Given the description of an element on the screen output the (x, y) to click on. 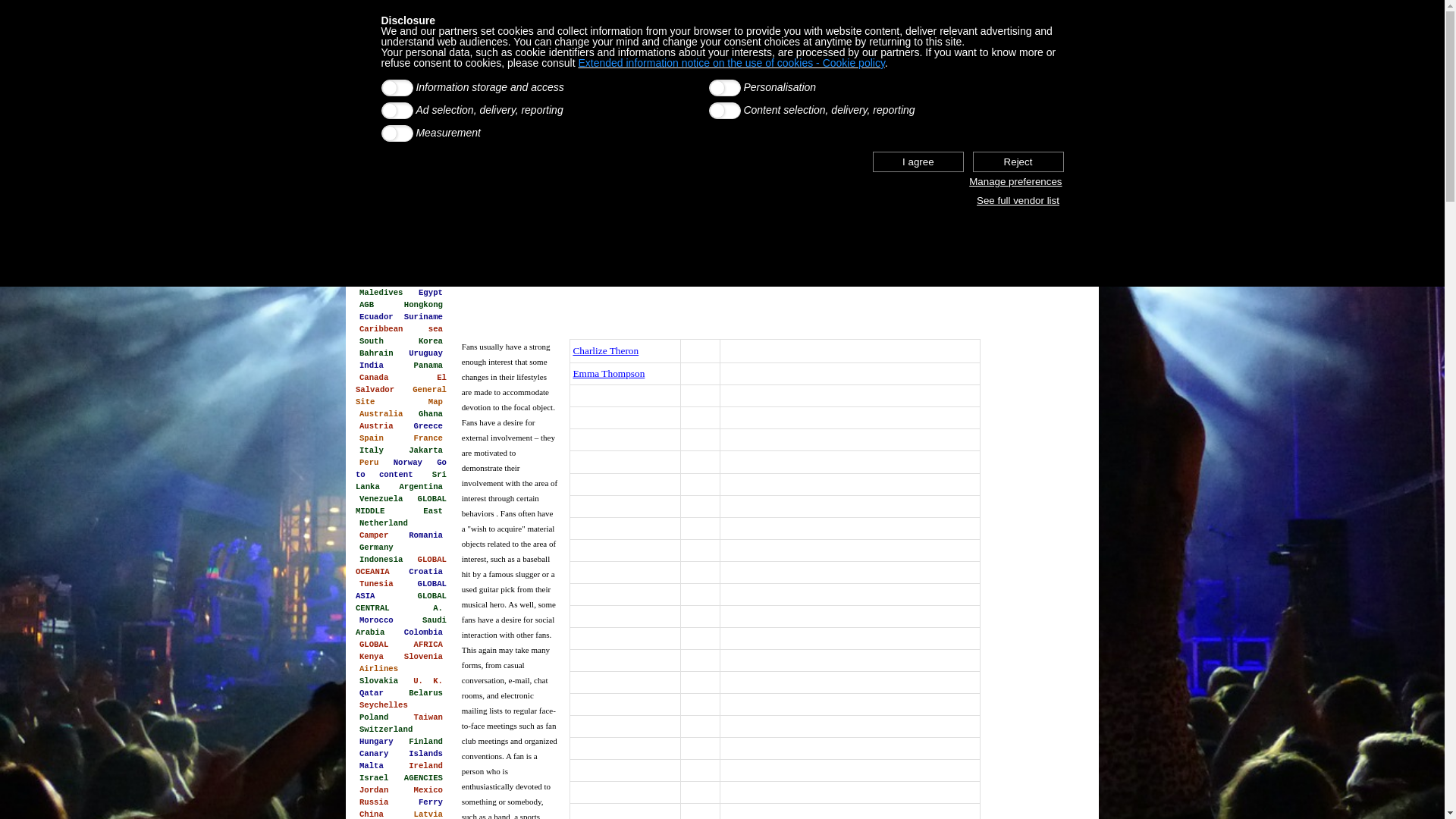
Switzerland Element type: text (385, 729)
Greece Element type: text (428, 426)
Suriname Element type: text (423, 316)
Reject Element type: text (1017, 161)
Russia Element type: text (373, 802)
Israel Element type: text (373, 777)
Go to content Element type: text (400, 468)
Egypt Element type: text (430, 292)
Jakarta Element type: text (425, 450)
Spain Element type: text (371, 438)
Finland Element type: text (425, 741)
AGB Element type: text (366, 304)
Advertisement Element type: hover (1036, 512)
Argentina Element type: text (420, 486)
France Element type: text (428, 438)
Bahrain Element type: text (376, 353)
Indonesia Element type: text (381, 559)
General Site Map Element type: text (400, 395)
Colombia Element type: text (423, 632)
El Salvador Element type: text (400, 383)
Germany Element type: text (376, 547)
GLOBAL MIDDLE East Element type: text (400, 504)
See full vendor list Element type: text (1017, 200)
Romania Element type: text (425, 535)
GLOBAL CENTRAL A. Element type: text (400, 602)
Canary Islands Element type: text (401, 753)
Canada Element type: text (373, 377)
U. K. Element type: text (428, 680)
Peru Element type: text (369, 462)
Ireland Element type: text (425, 765)
Taiwan Element type: text (428, 717)
Slovenia Element type: text (423, 656)
Malta Element type: text (371, 765)
Mexico Element type: text (428, 790)
Slovakia Element type: text (378, 680)
Hungary Element type: text (376, 741)
Menue Element type: text (403, 255)
Advertisement Element type: hover (721, 307)
Croatia Element type: text (425, 571)
Sri Lanka Element type: text (400, 480)
Maledives Element type: text (381, 292)
India Element type: text (371, 365)
Panama Element type: text (428, 365)
Ferry Element type: text (430, 802)
Belarus Element type: text (425, 692)
Emma Thompson Element type: text (608, 373)
Ghana Element type: text (430, 413)
Australia Element type: text (381, 413)
Charlize Theron Element type: text (605, 350)
Ecuador Element type: text (376, 316)
GLOBAL OCEANIA Element type: text (400, 565)
AGENCIES Element type: text (423, 777)
GLOBAL AFRICA Element type: text (401, 644)
Norway Element type: text (407, 462)
Hongkong Element type: text (423, 304)
Saudi Arabia Element type: text (400, 626)
Uruguay Element type: text (425, 353)
I agree Element type: text (917, 161)
Venezuela Element type: text (381, 498)
Qatar Element type: text (371, 692)
Italy Element type: text (371, 450)
Poland Element type: text (373, 717)
Airlines Element type: text (378, 668)
South Korea Element type: text (401, 341)
Tunesia Element type: text (376, 583)
Morocco Element type: text (376, 620)
Austria Element type: text (376, 426)
Kenya Element type: text (371, 656)
Caribbean sea Element type: text (401, 328)
Seychelles Element type: text (383, 705)
Camper Element type: text (373, 535)
Netherland Element type: text (383, 523)
GLOBAL ASIA Element type: text (400, 589)
Jordan Element type: text (373, 790)
Manage preferences Element type: text (1015, 181)
